Given the description of an element on the screen output the (x, y) to click on. 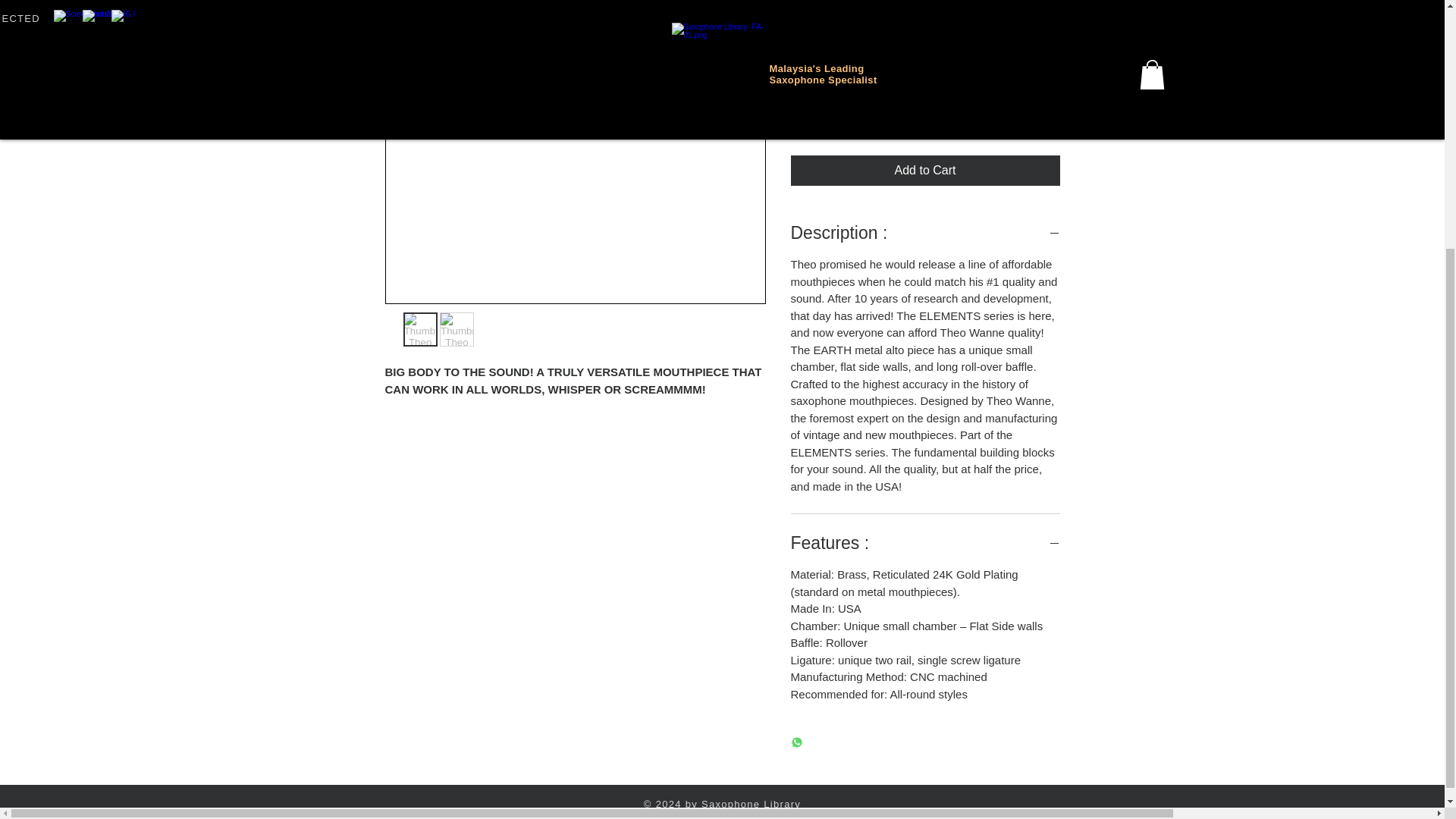
7 (924, 46)
1 (820, 114)
Add to Cart (924, 170)
Description : (924, 232)
Features : (924, 542)
